Given the description of an element on the screen output the (x, y) to click on. 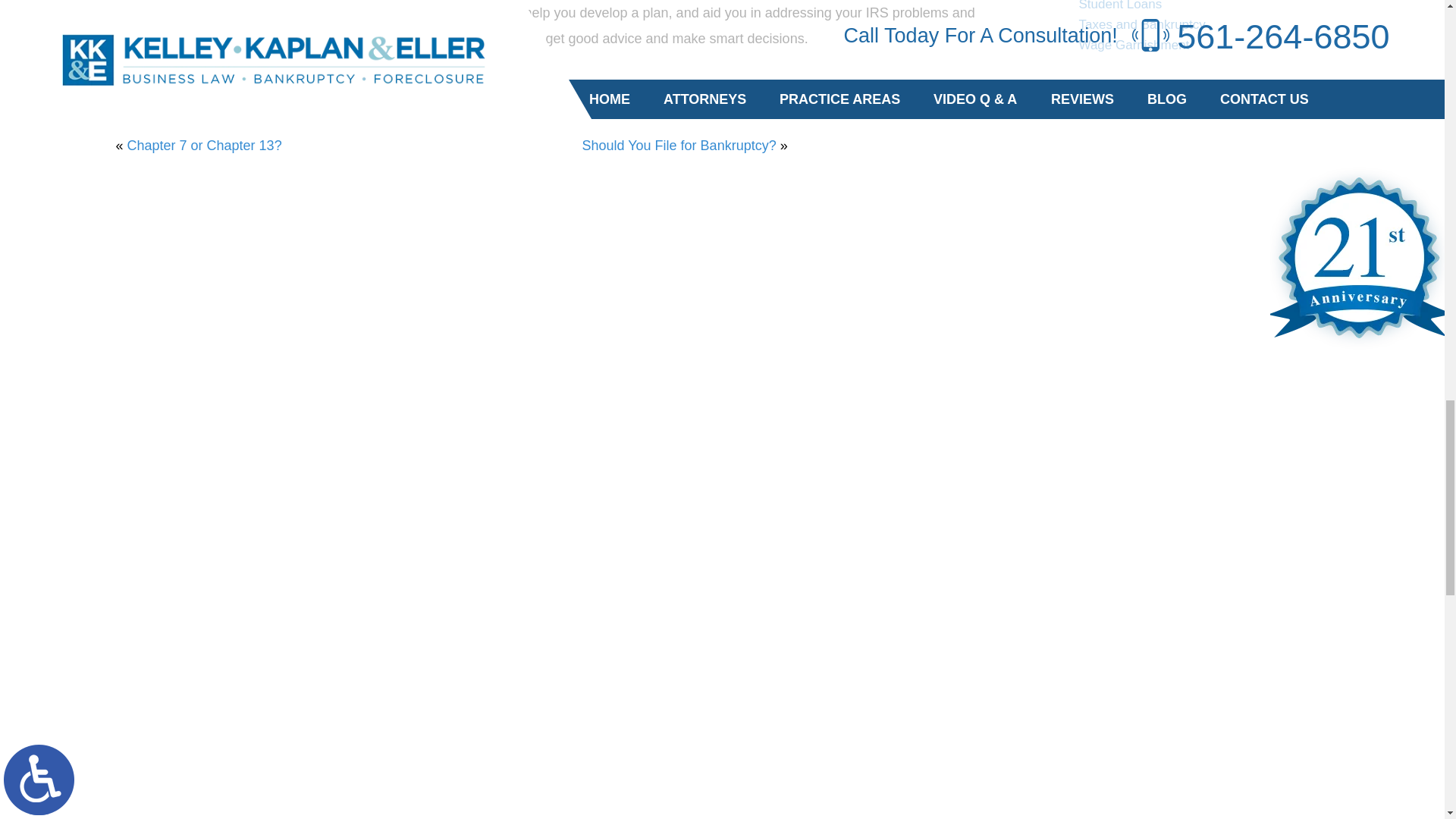
Twitter (149, 80)
LinkedIn (160, 80)
Facebook (139, 80)
2014-12-16T00:00:00-0800 (371, 112)
